Given the description of an element on the screen output the (x, y) to click on. 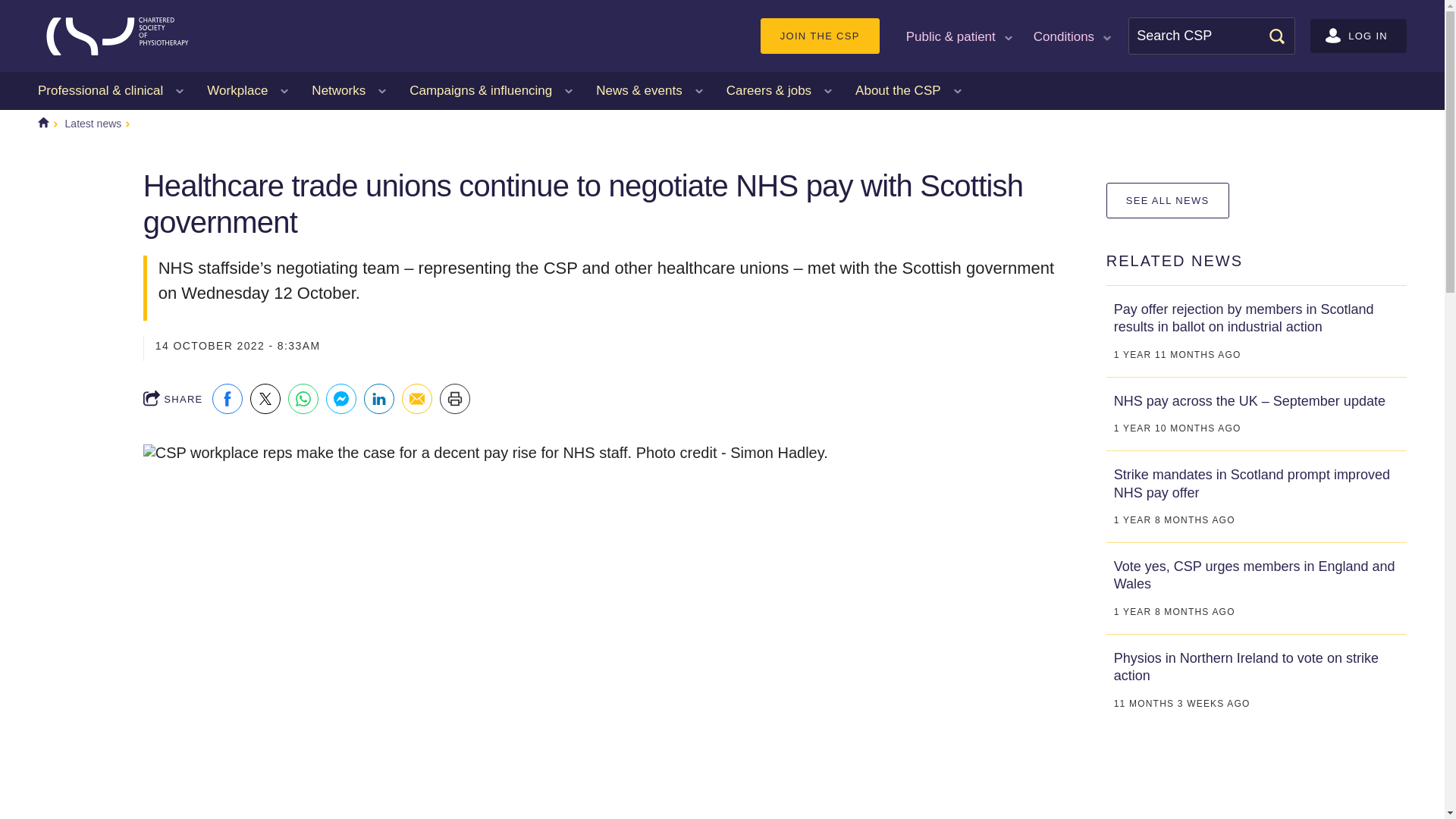
Conditions (1071, 35)
WhatsApp (303, 399)
Enter the terms you wish to search for. (1211, 35)
Facebook messenger (341, 399)
Email (416, 399)
Facebook (227, 399)
LOG IN (1358, 35)
JOIN THE CSP (819, 36)
Linkedin (379, 399)
Search (1276, 35)
